Given the description of an element on the screen output the (x, y) to click on. 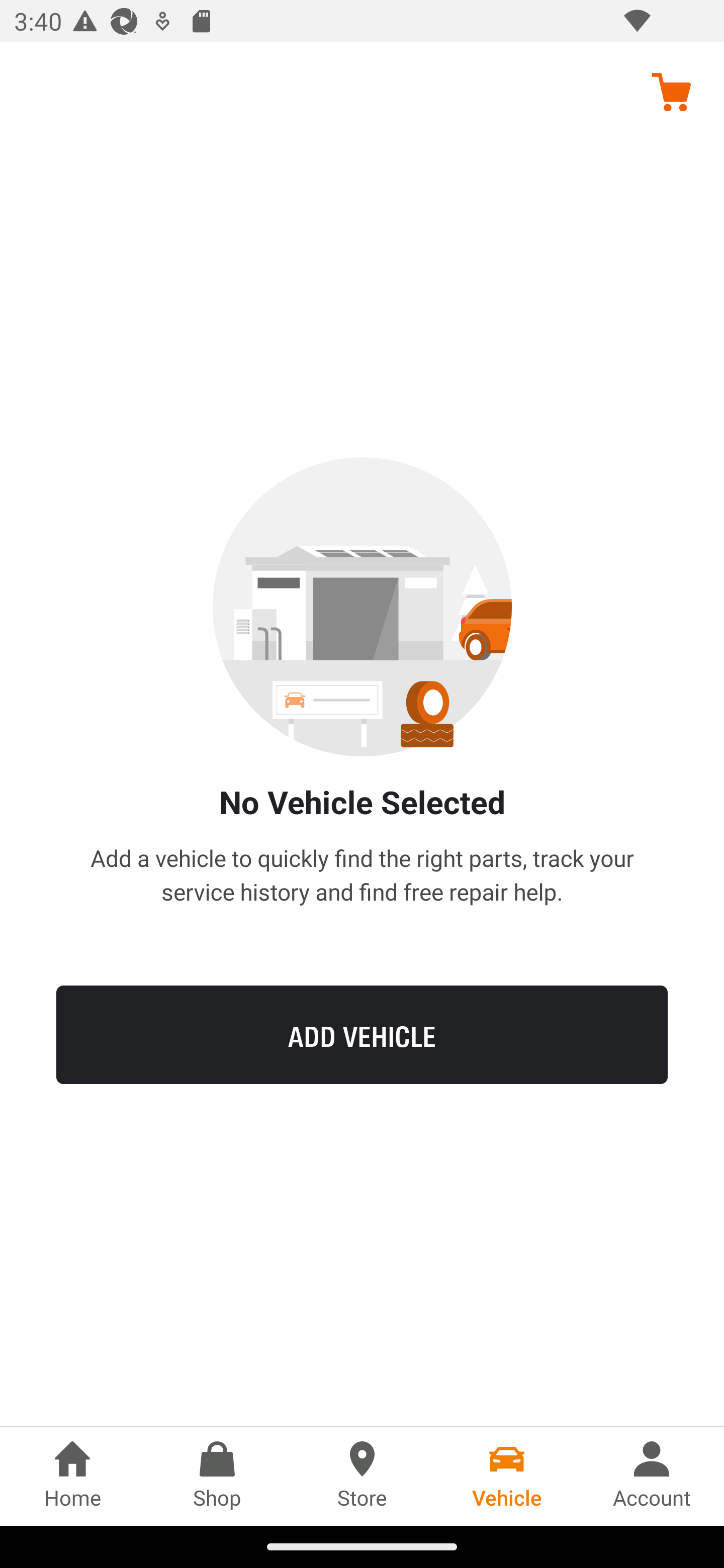
Cart, no items  (670, 91)
ADD VEHICLE (361, 1034)
Home (72, 1475)
Shop (216, 1475)
Store (361, 1475)
Vehicle (506, 1475)
Account (651, 1475)
